Given the description of an element on the screen output the (x, y) to click on. 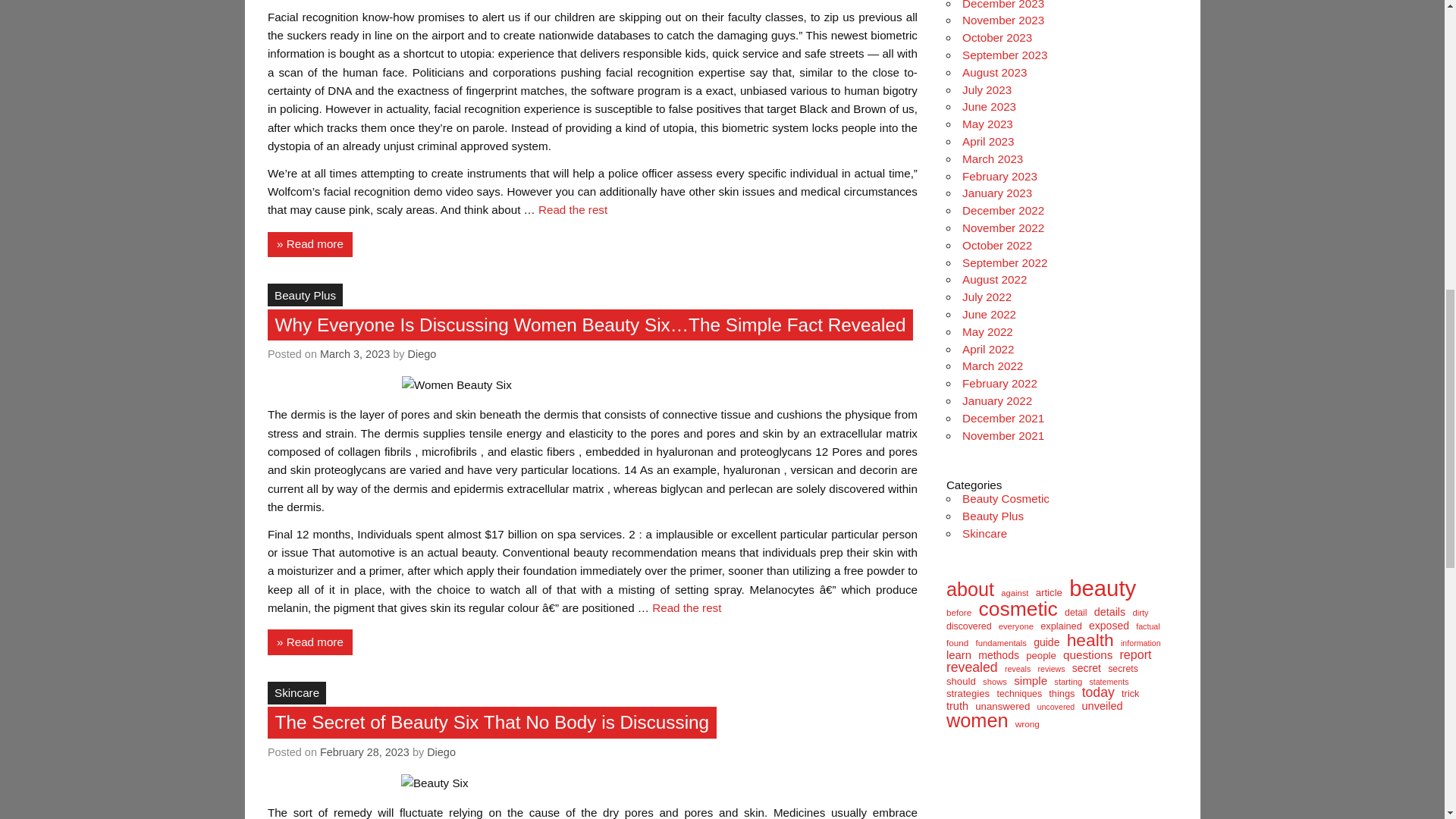
Diego (440, 752)
3:41 pm (364, 752)
Read the rest (572, 209)
February 28, 2023 (364, 752)
Diego (421, 354)
March 3, 2023 (355, 354)
The Secret of Beauty Six That No Body is Discussing (492, 722)
View all posts by Diego (421, 354)
Beauty Plus (304, 294)
Read the rest (686, 607)
